Given the description of an element on the screen output the (x, y) to click on. 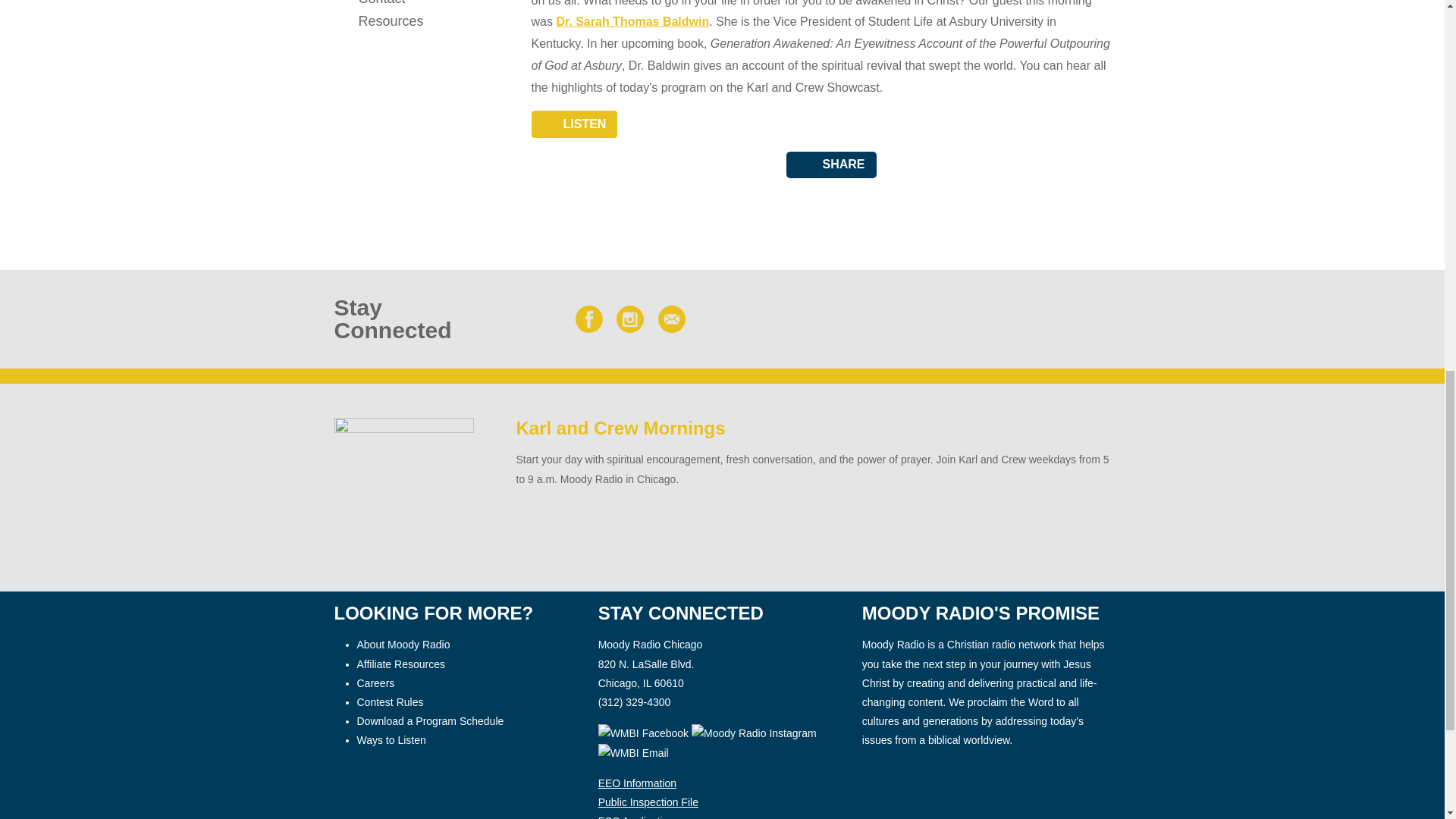
Instragram (629, 318)
Facebook (588, 318)
Moody Radio Instagram (753, 732)
Email (671, 318)
Moody Radio's Karl and Crew Instagram (755, 732)
Resources (403, 20)
Dr. Sarah Thomas Baldwin (632, 21)
Contact (403, 4)
WMBI Email (633, 752)
WMBI Facebook (643, 732)
